Given the description of an element on the screen output the (x, y) to click on. 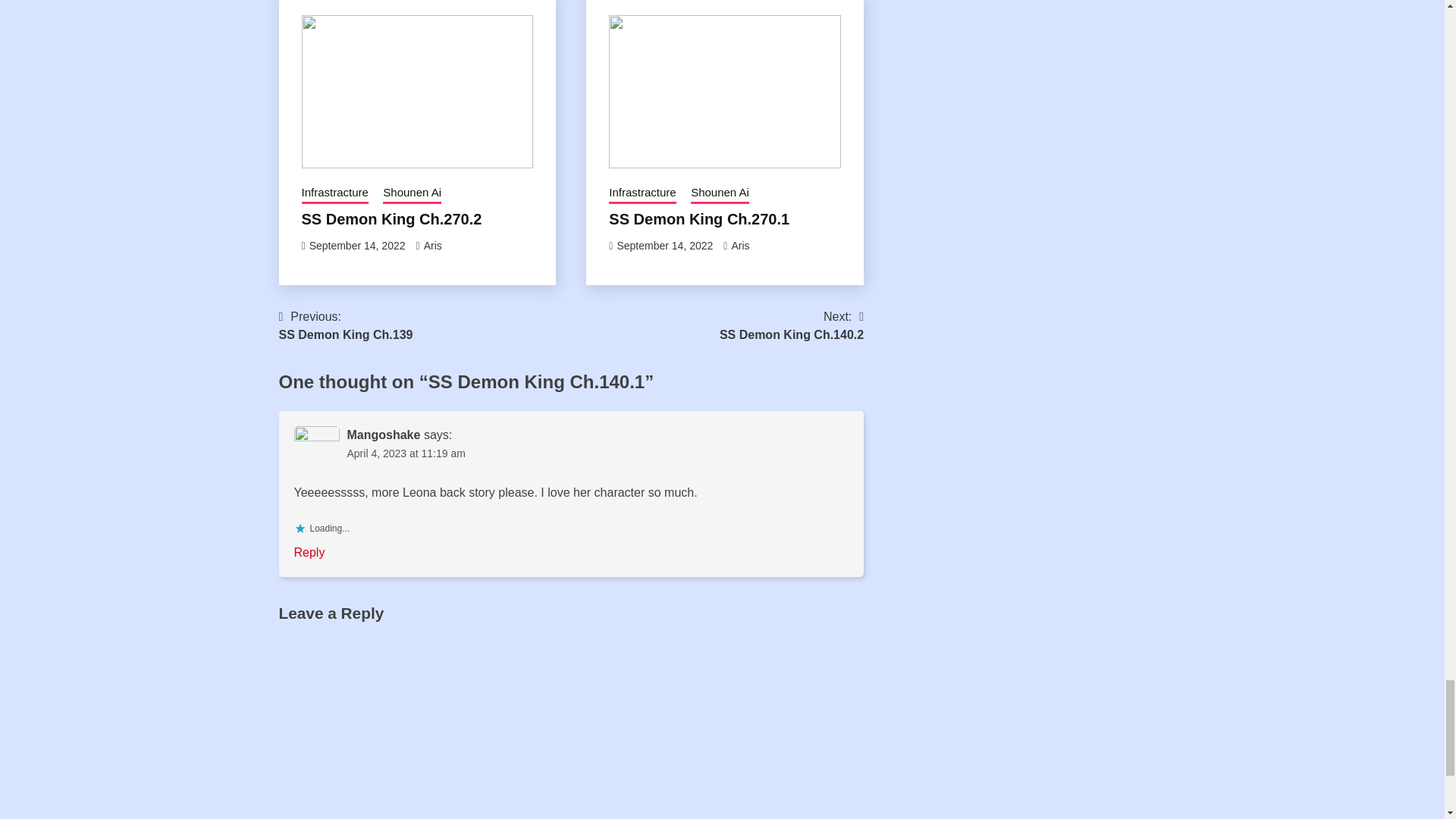
Infrastracture (334, 193)
Shounen Ai (411, 193)
Comment Form (571, 725)
SS Demon King Ch.270.1 (698, 218)
Aris (346, 325)
Shounen Ai (739, 245)
SS Demon King Ch.270.2 (719, 193)
Infrastracture (391, 218)
September 14, 2022 (641, 193)
Aris (664, 245)
September 14, 2022 (432, 245)
